Given the description of an element on the screen output the (x, y) to click on. 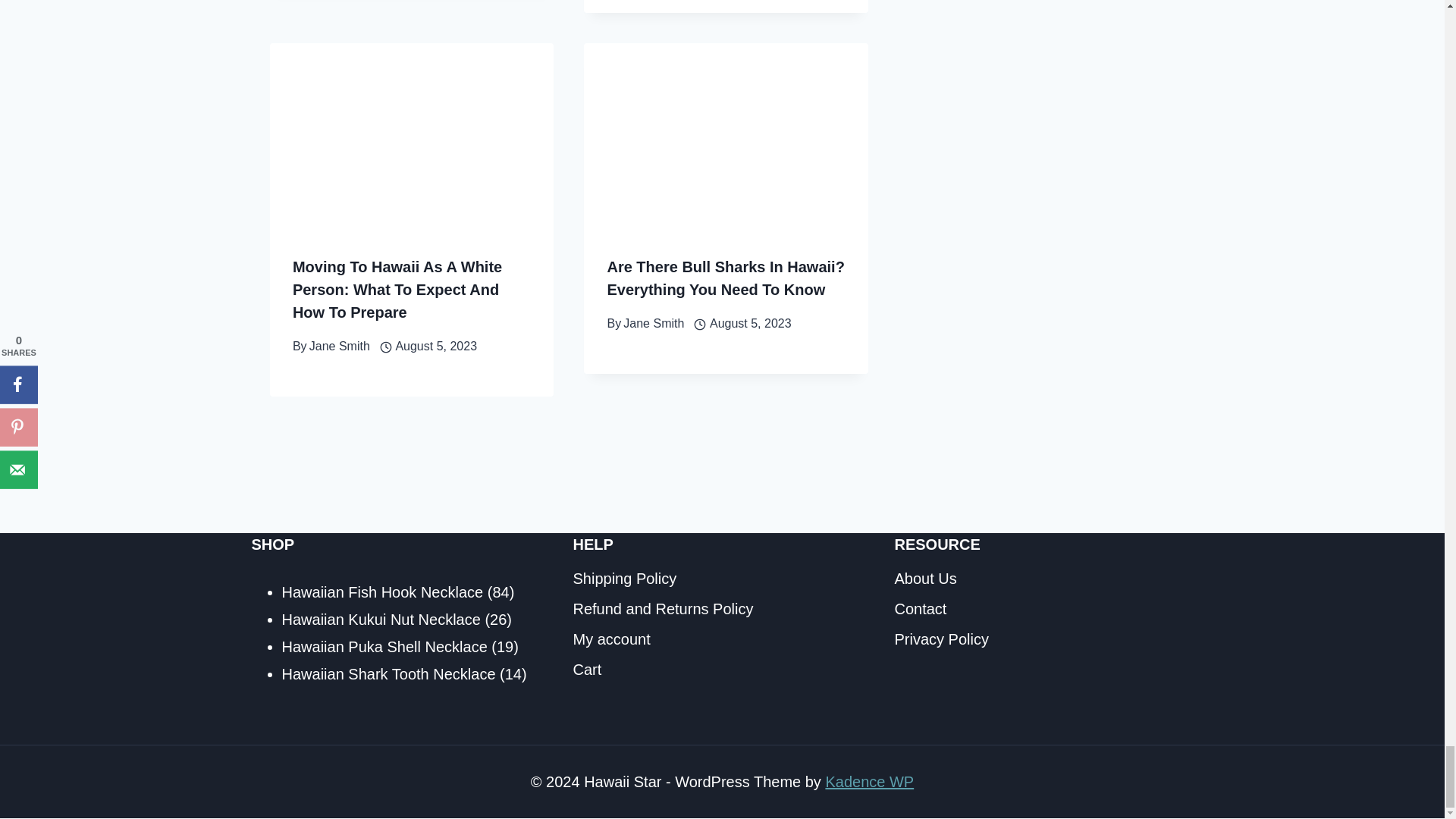
Are There Bull Sharks In Hawaii? Everything You Need To Know (725, 278)
Jane Smith (338, 345)
